Given the description of an element on the screen output the (x, y) to click on. 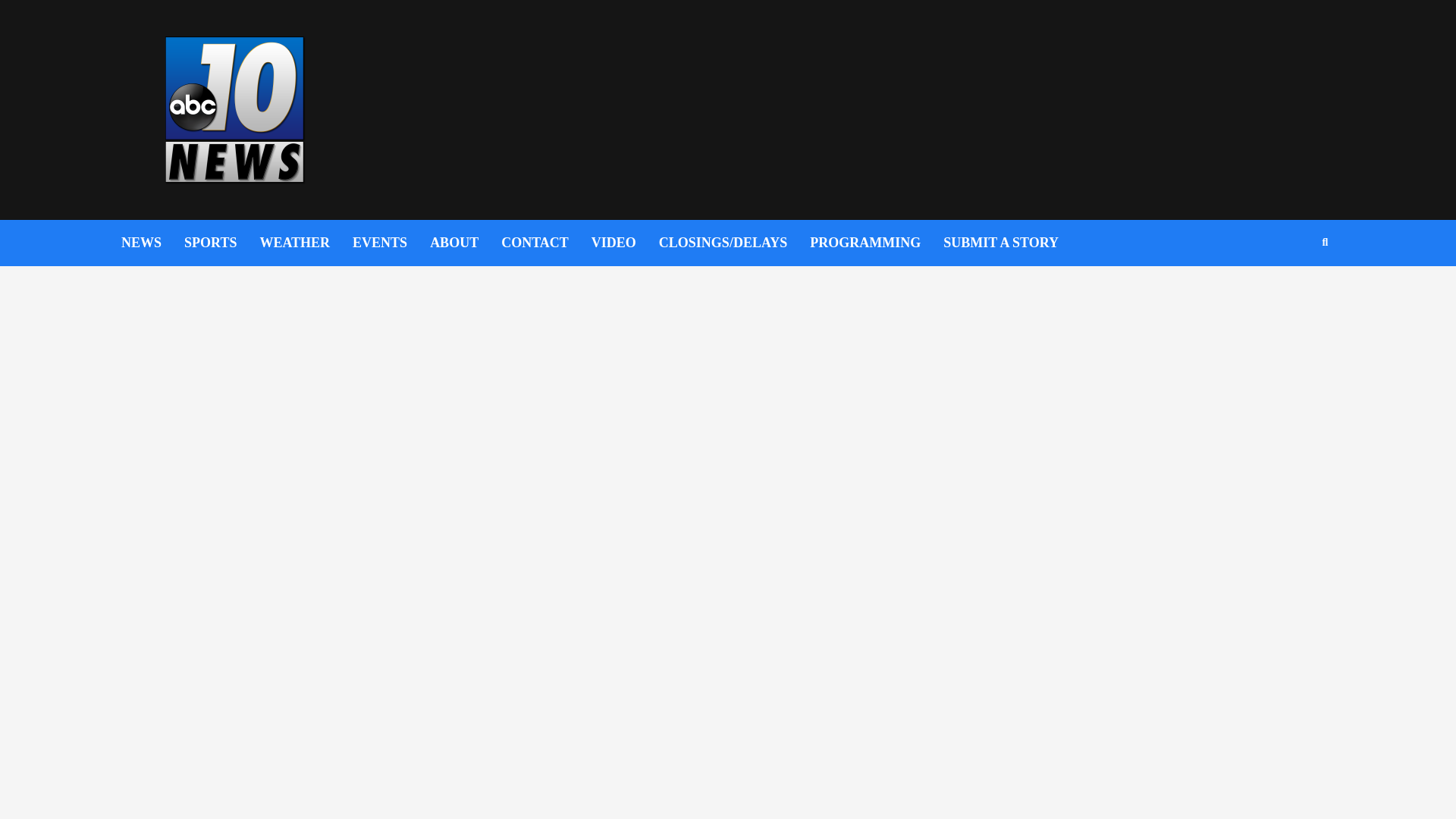
ABOUT (464, 243)
EVENTS (390, 243)
VIDEO (625, 243)
PROGRAMMING (876, 243)
WEATHER (305, 243)
SUBMIT A STORY (1012, 243)
NEWS (152, 243)
SPORTS (221, 243)
Search (1289, 291)
CONTACT (545, 243)
